Given the description of an element on the screen output the (x, y) to click on. 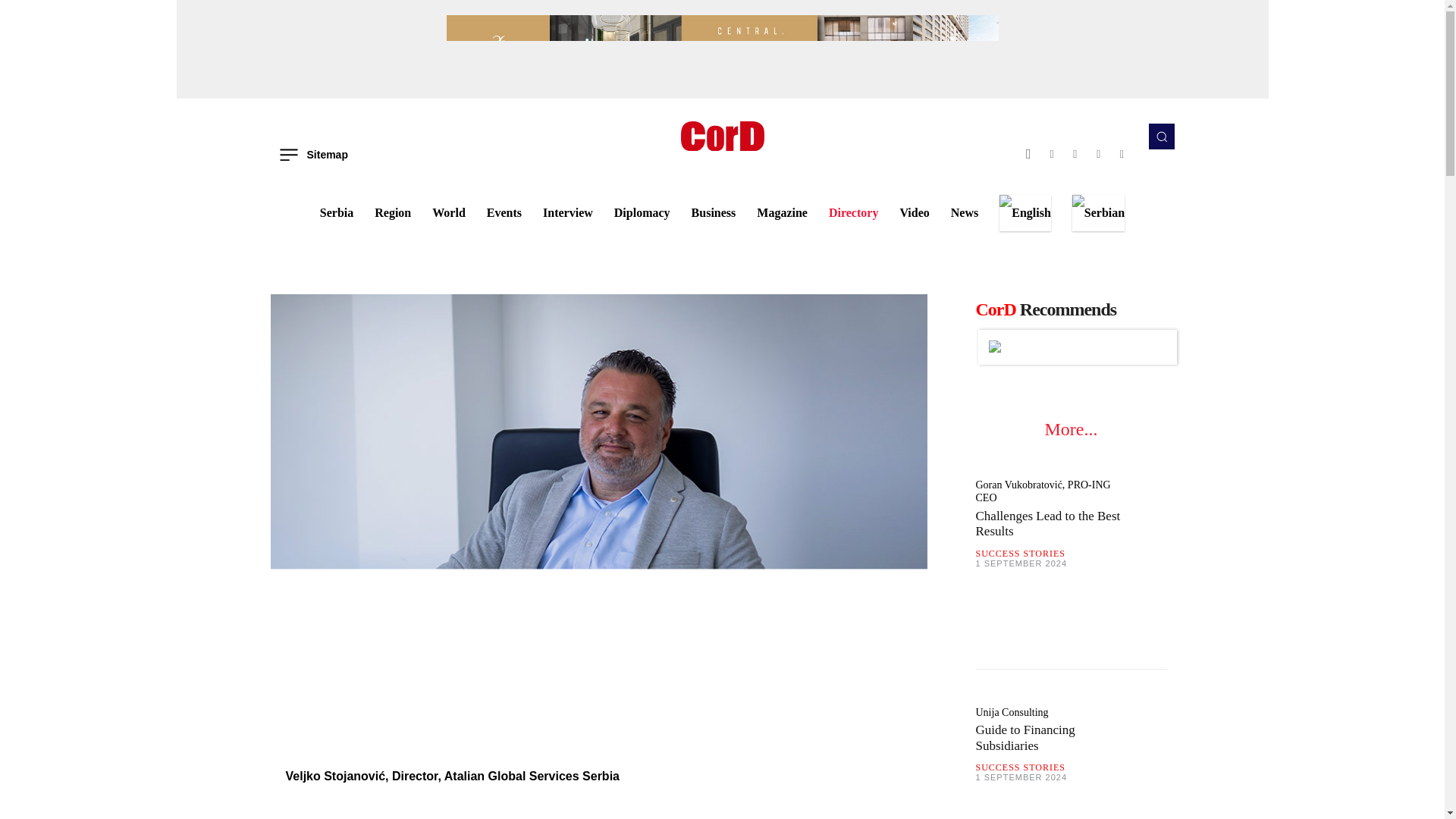
Cord Magazine (722, 135)
Linkedin (1075, 154)
Twitter (1097, 154)
Facebook (1028, 154)
Instagram (1052, 154)
Youtube (1121, 154)
